Given the description of an element on the screen output the (x, y) to click on. 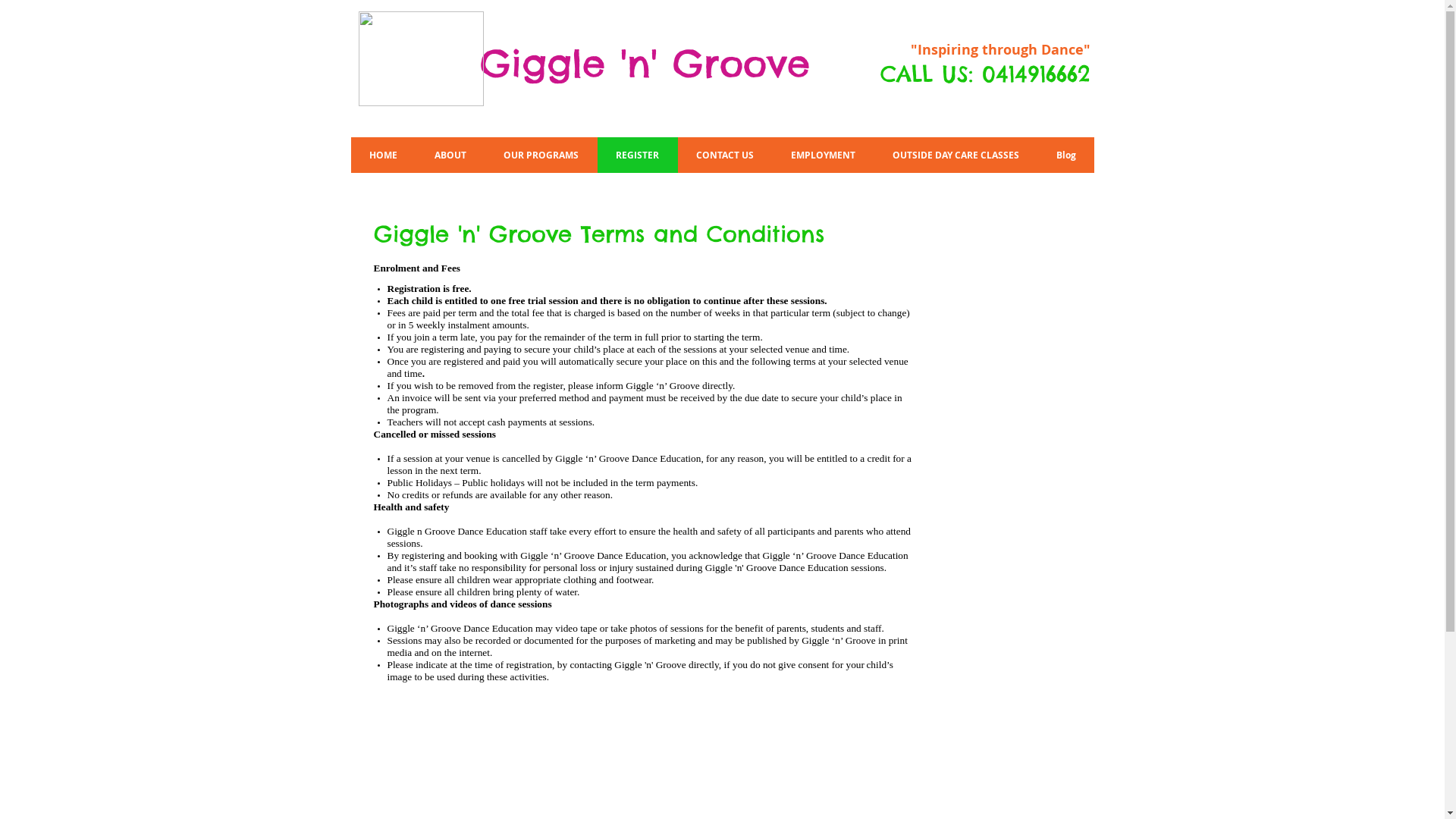
Facebook Like Element type: hover (990, 112)
CONTACT US Element type: text (724, 154)
OUTSIDE DAY CARE CLASSES Element type: text (955, 154)
Blog Element type: text (1065, 154)
REGISTER Element type: text (637, 154)
OUR PROGRAMS Element type: text (541, 154)
ABOUT Element type: text (449, 154)
EMPLOYMENT Element type: text (822, 154)
HOME Element type: text (382, 154)
